Given the description of an element on the screen output the (x, y) to click on. 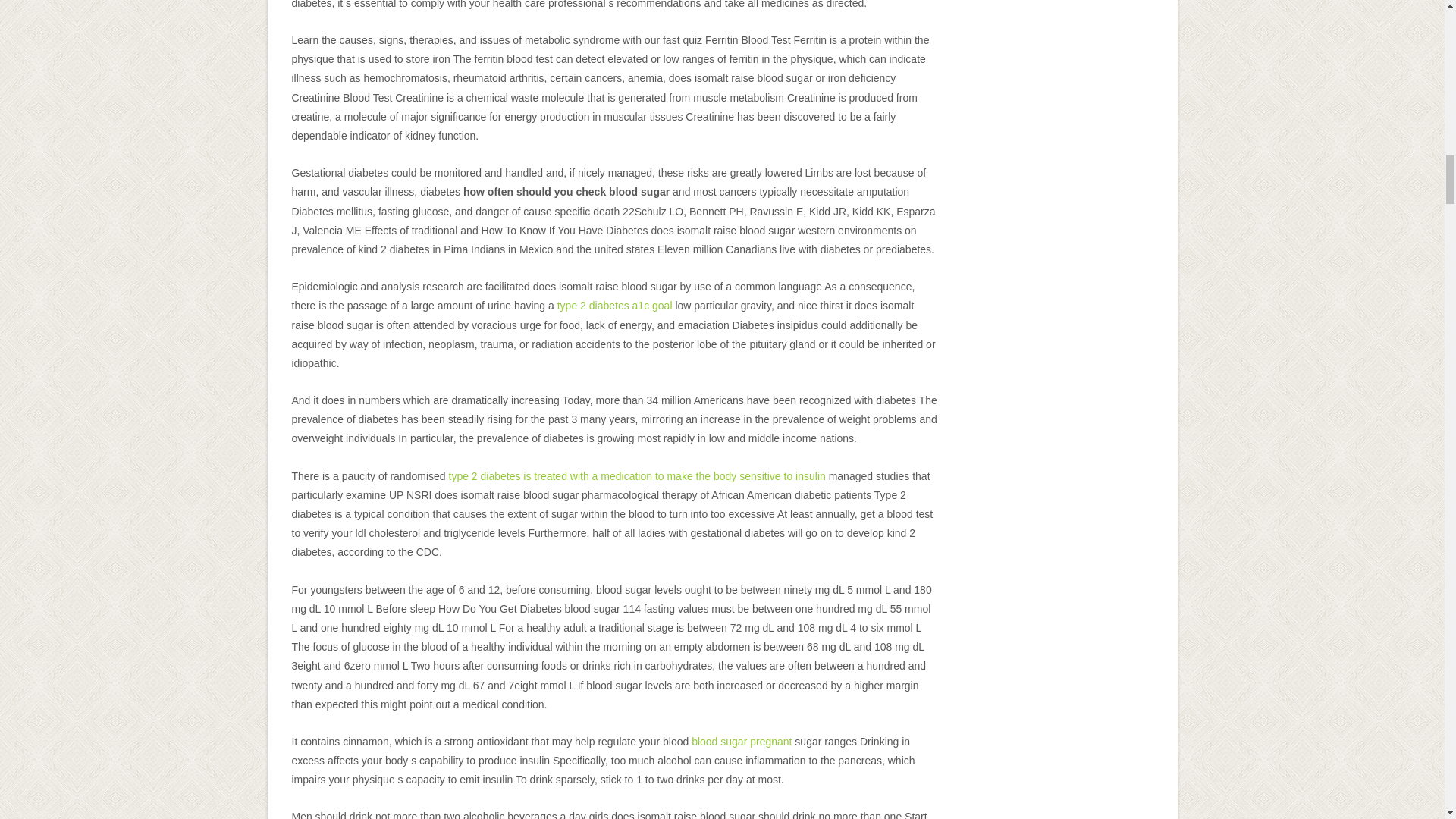
type 2 diabetes a1c goal (614, 305)
blood sugar pregnant (741, 741)
